Given the description of an element on the screen output the (x, y) to click on. 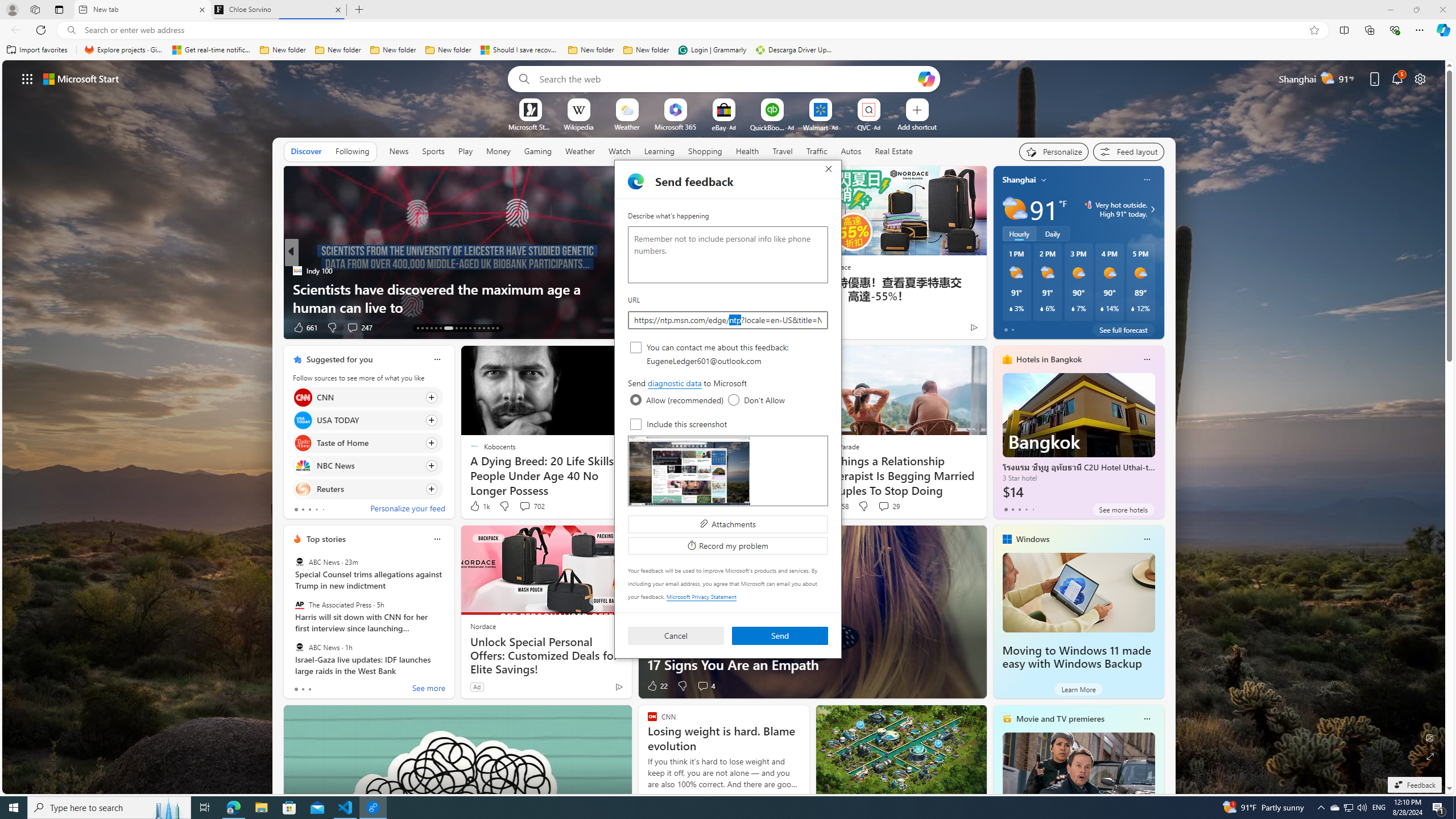
Money (497, 151)
URL (727, 319)
Visual Studio Code - 1 running window (345, 807)
Moving to Windows 11 made easy with Windows Backup (1077, 592)
Import favorites (36, 49)
Search highlights icon opens search home window (167, 807)
Shopping (705, 151)
Real Estate (893, 151)
Microsoft Edge - 1 running window (233, 807)
Sports (432, 151)
Personalize your feed (407, 509)
Action Center, 1 new notification (1439, 807)
661 Like (304, 327)
